Given the description of an element on the screen output the (x, y) to click on. 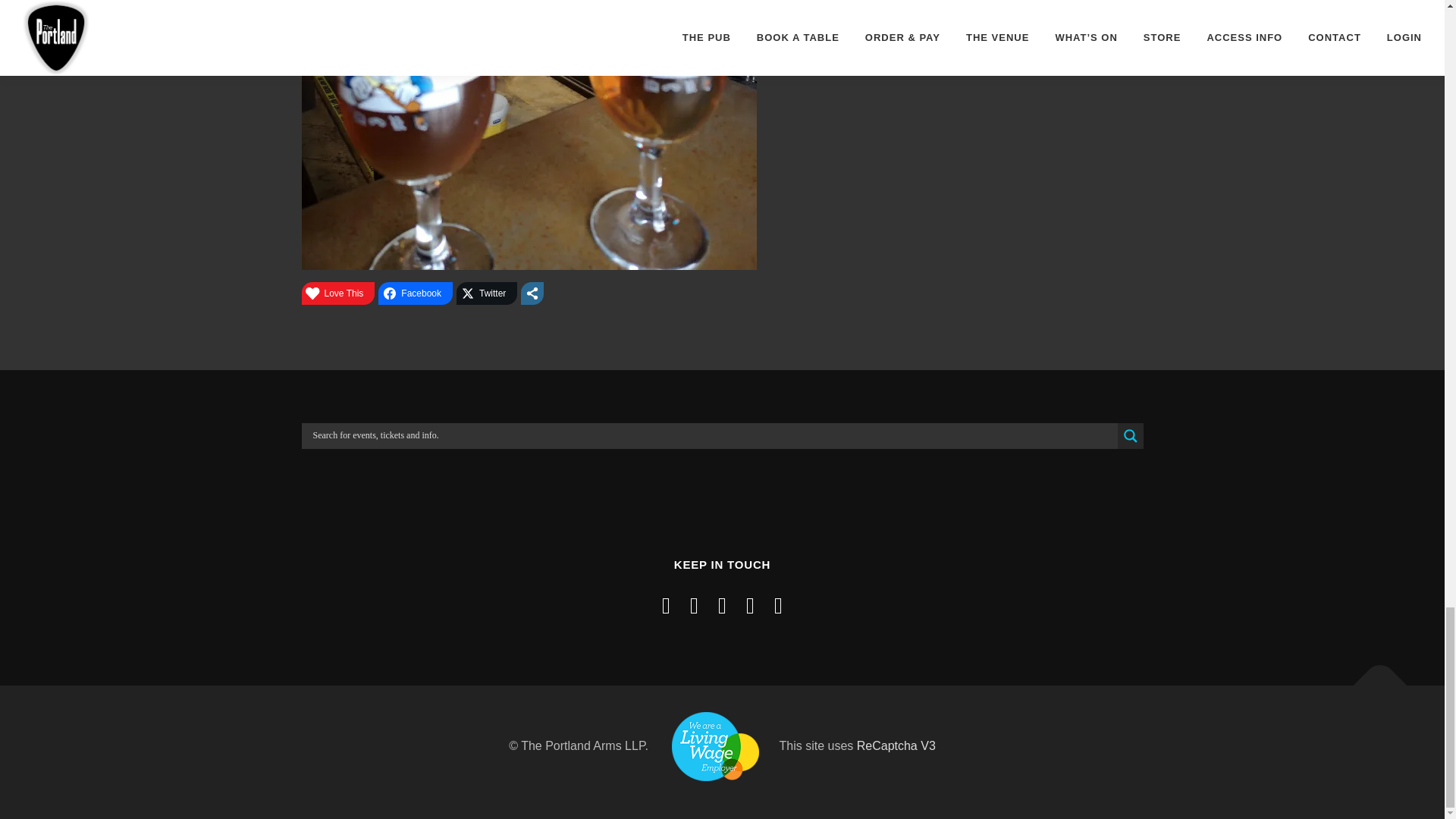
Love This (338, 292)
Share on ... (532, 292)
Share on Love This (338, 292)
Share on Facebook (415, 292)
Share on Twitter (486, 292)
Twitter (486, 292)
Facebook (415, 292)
